Given the description of an element on the screen output the (x, y) to click on. 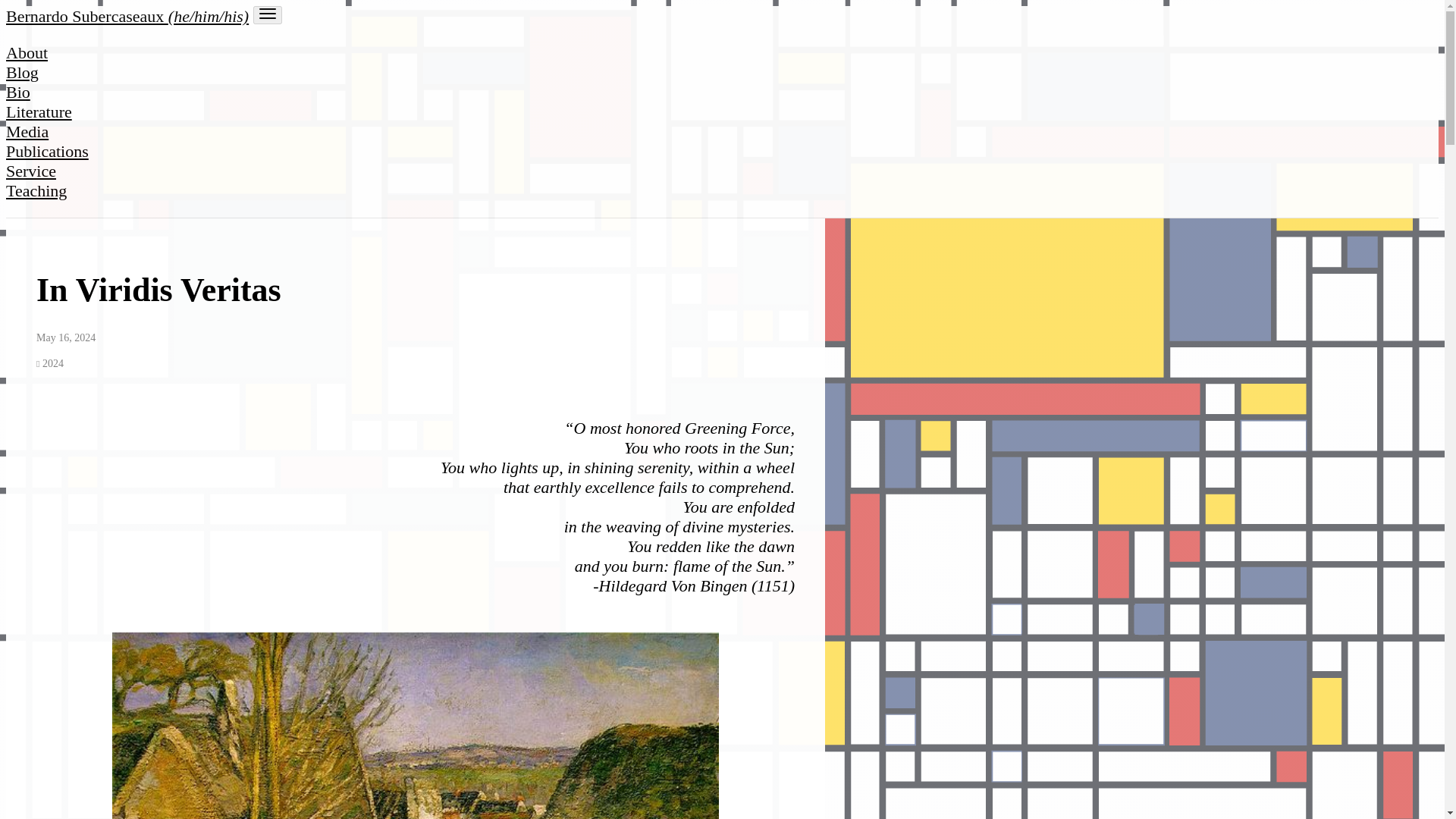
Media (26, 131)
Literature (38, 111)
Service (30, 170)
About (26, 52)
Teaching (35, 189)
Bio (17, 91)
Toggle navigation (267, 14)
Blog (22, 72)
2024 (50, 363)
Publications (46, 150)
